Given the description of an element on the screen output the (x, y) to click on. 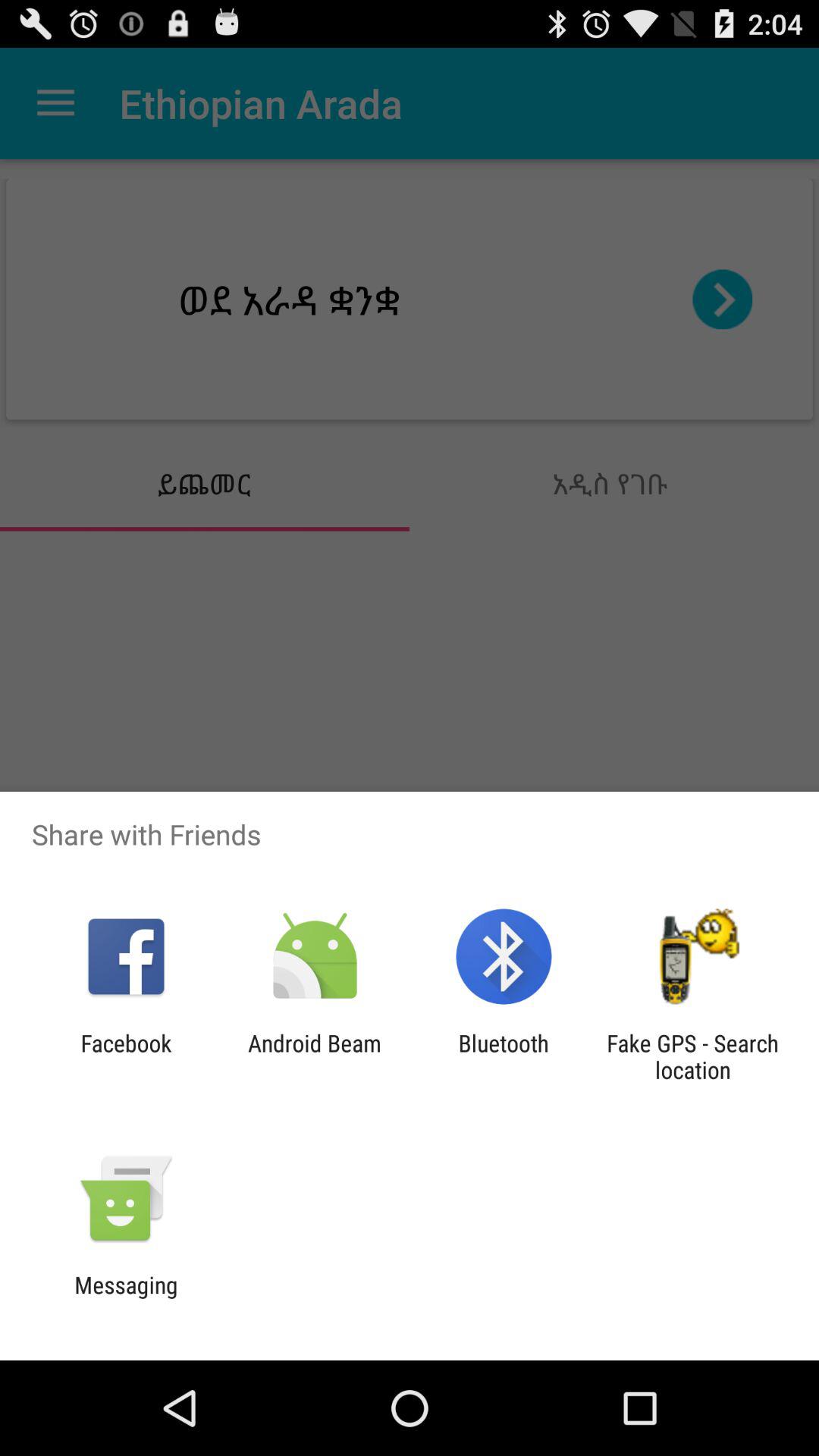
jump until the messaging icon (126, 1298)
